Given the description of an element on the screen output the (x, y) to click on. 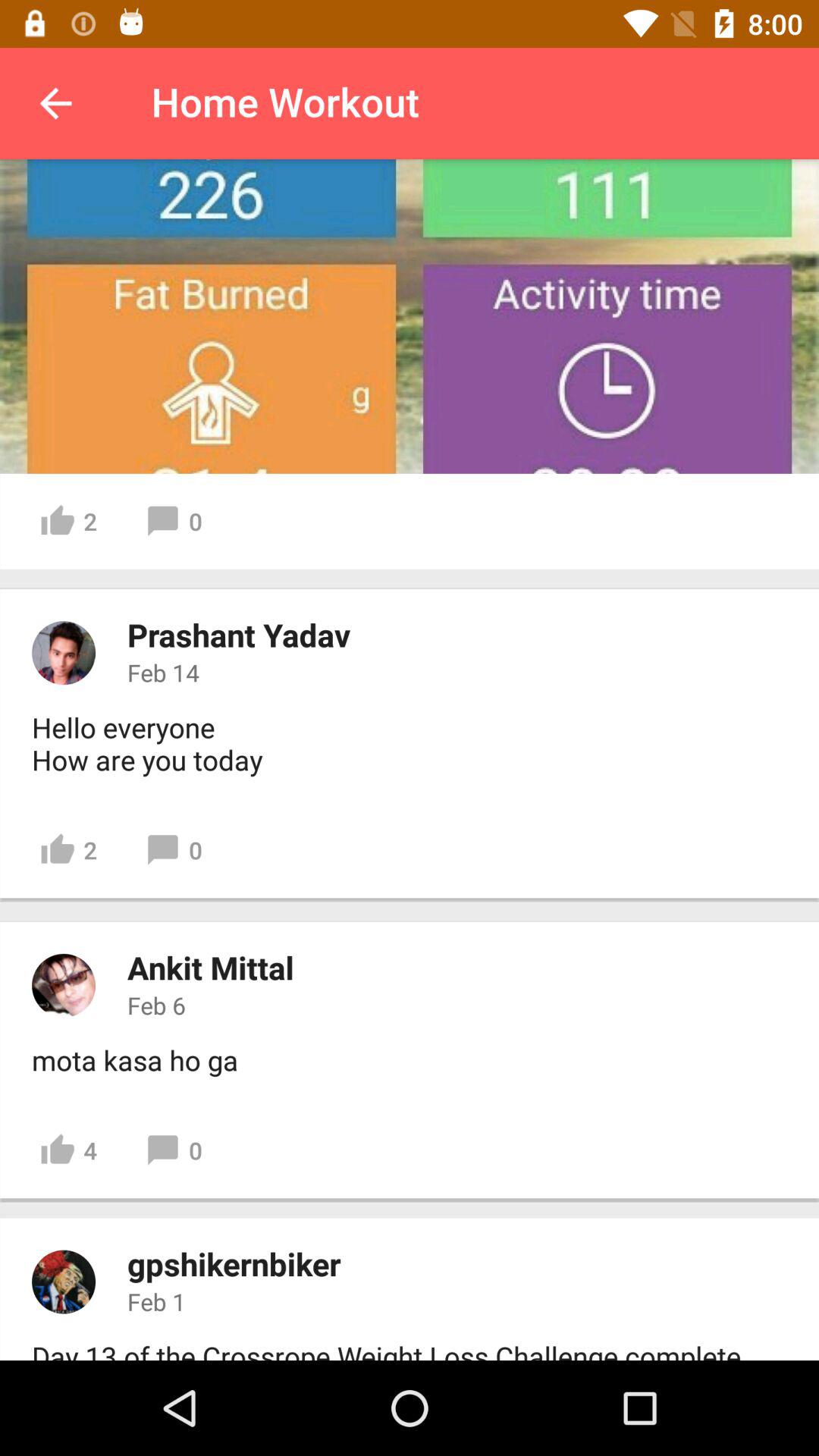
time settings (409, 316)
